Given the description of an element on the screen output the (x, y) to click on. 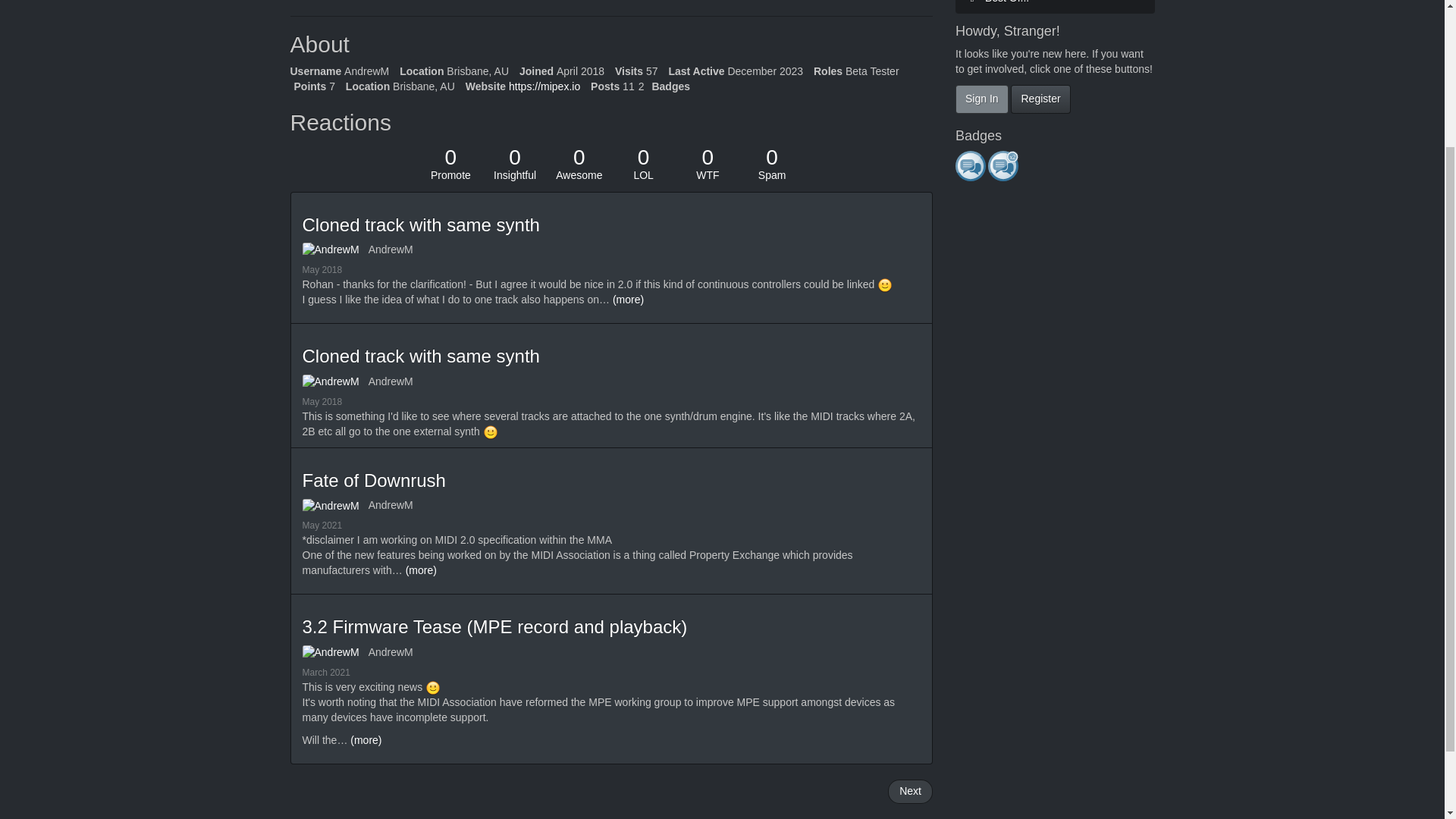
AndrewM (390, 249)
AndrewM (643, 163)
Cloned track with same synth (334, 381)
May 24, 2018  9:57PM (419, 355)
This post deserves to be featured on the best of page! (451, 163)
This post is made of pure win. (321, 401)
Fate of Downrush (451, 163)
